Given the description of an element on the screen output the (x, y) to click on. 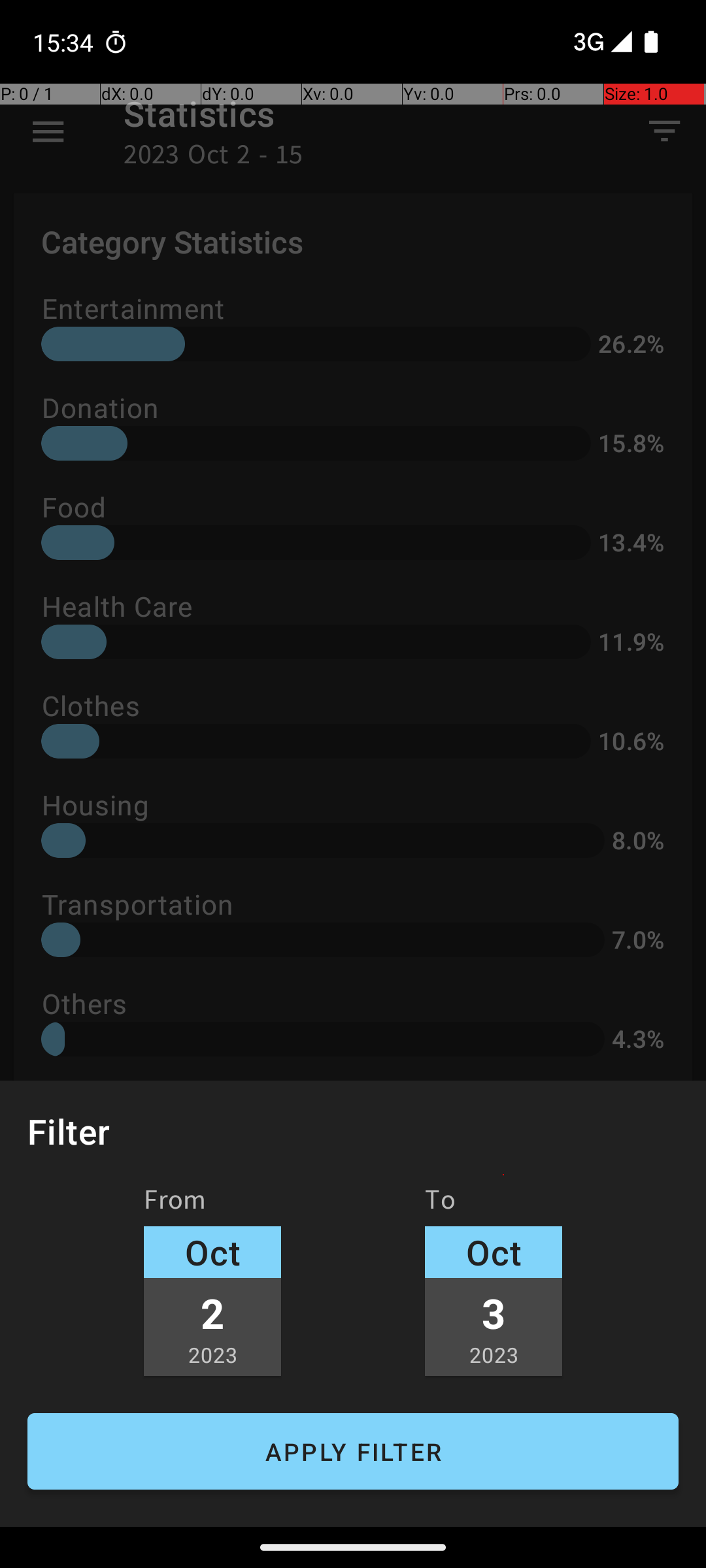
From Element type: android.widget.TextView (174, 1203)
To Element type: android.widget.TextView (439, 1203)
APPLY FILTER Element type: android.widget.Button (352, 1451)
